Given the description of an element on the screen output the (x, y) to click on. 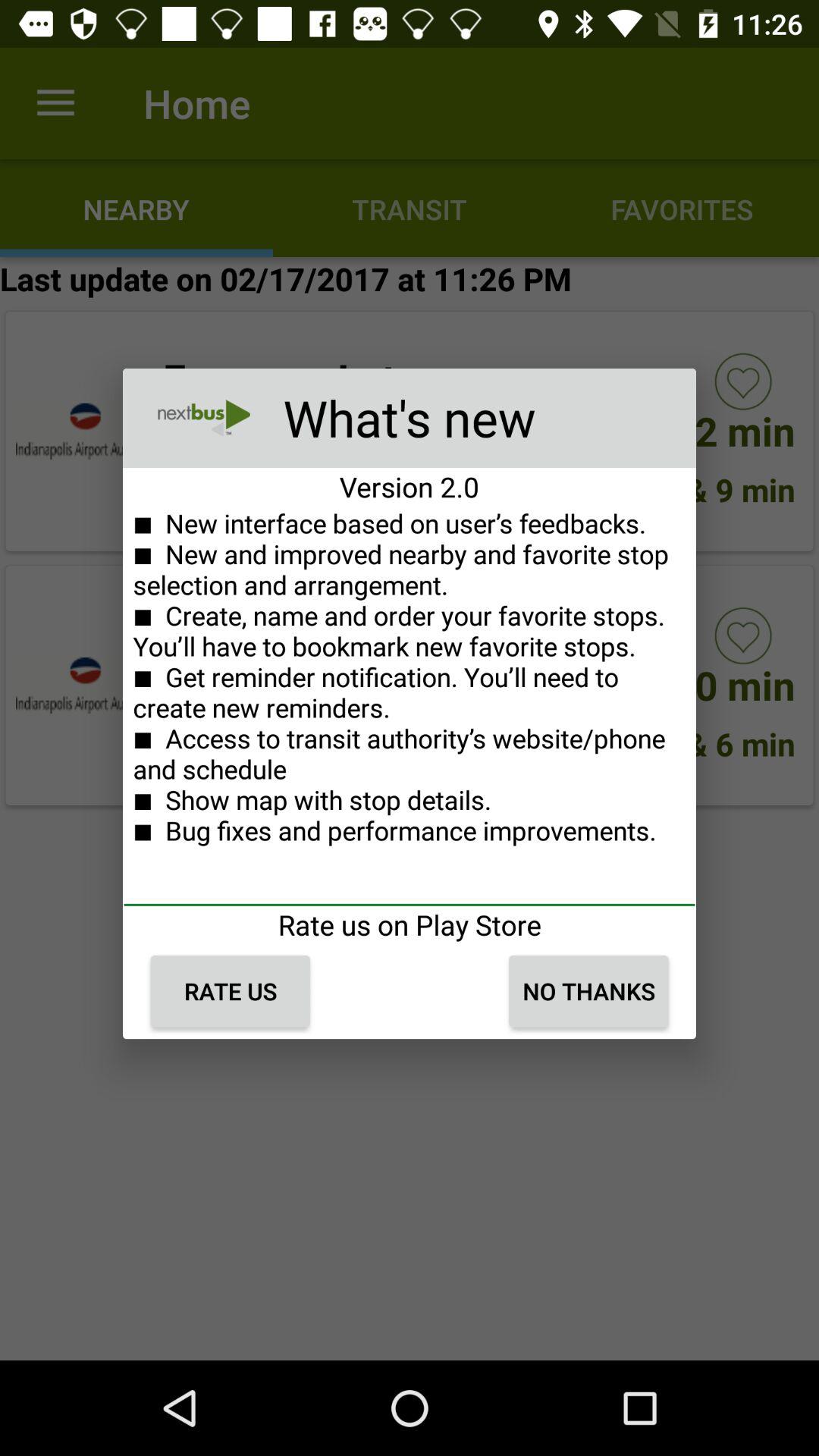
choose the icon next to rate us item (588, 991)
